Given the description of an element on the screen output the (x, y) to click on. 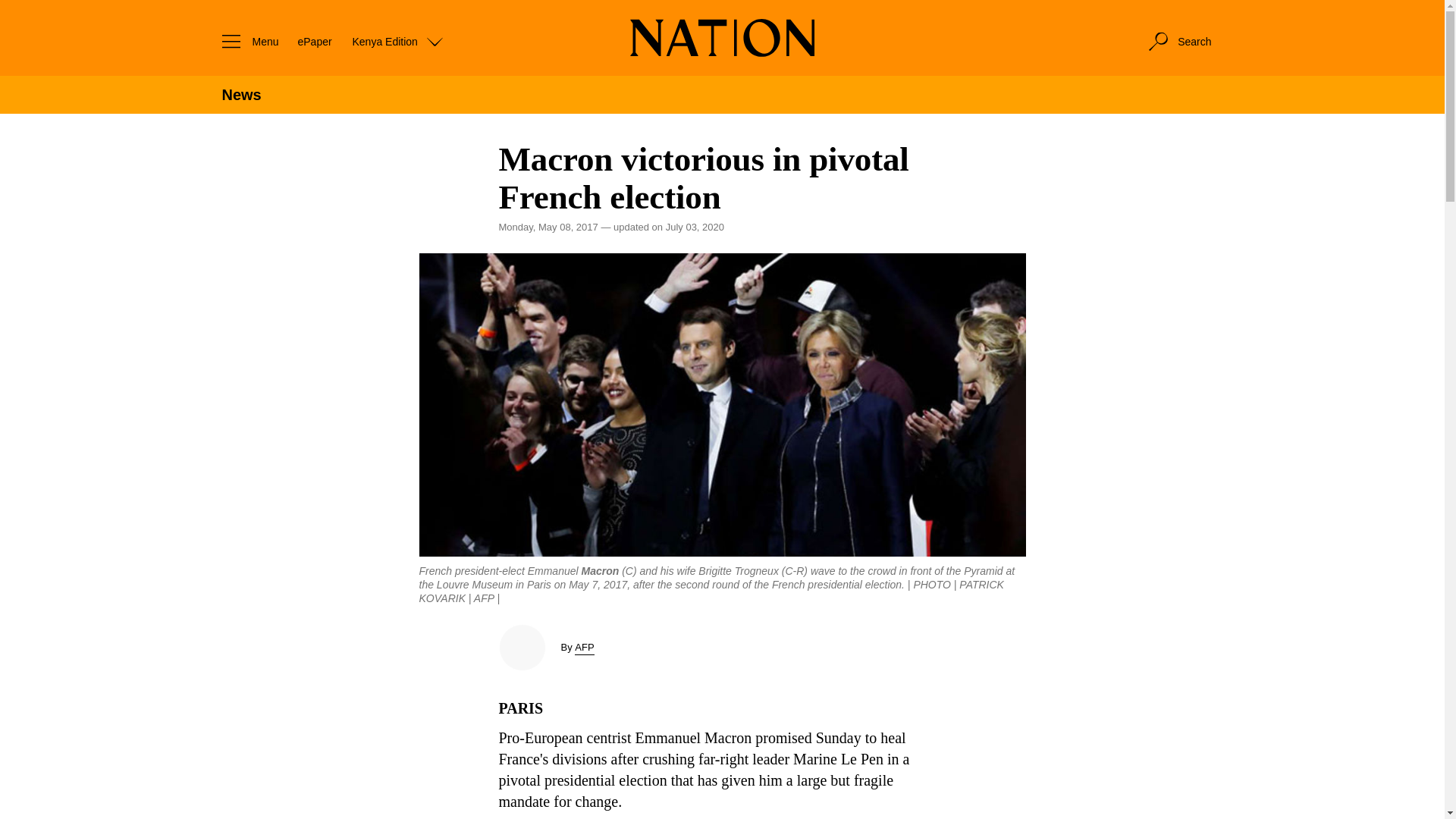
Kenya Edition (398, 41)
News (240, 94)
Menu (246, 41)
ePaper (314, 41)
Search (1178, 41)
